Given the description of an element on the screen output the (x, y) to click on. 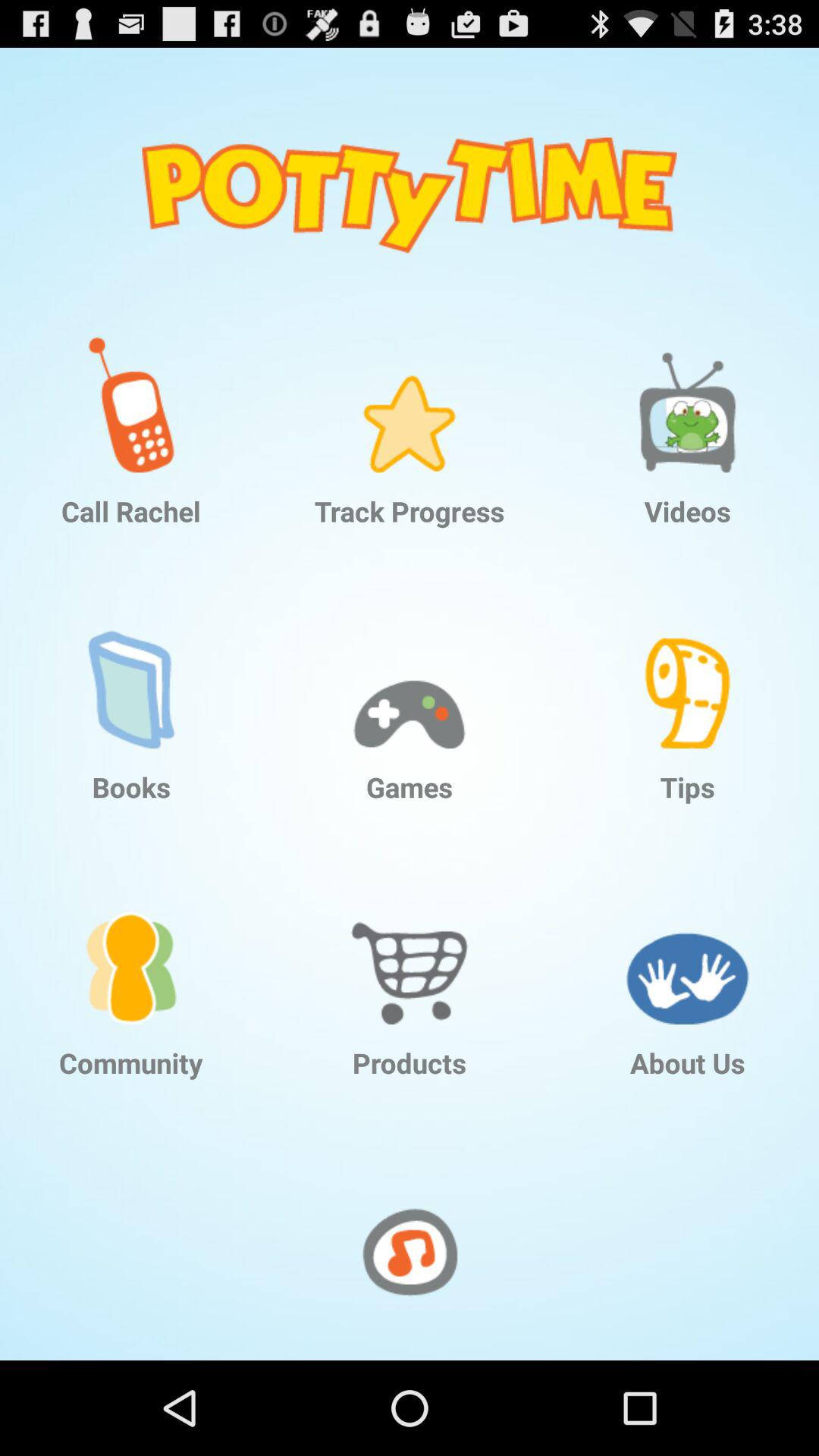
tap the item below the tips item (687, 944)
